Given the description of an element on the screen output the (x, y) to click on. 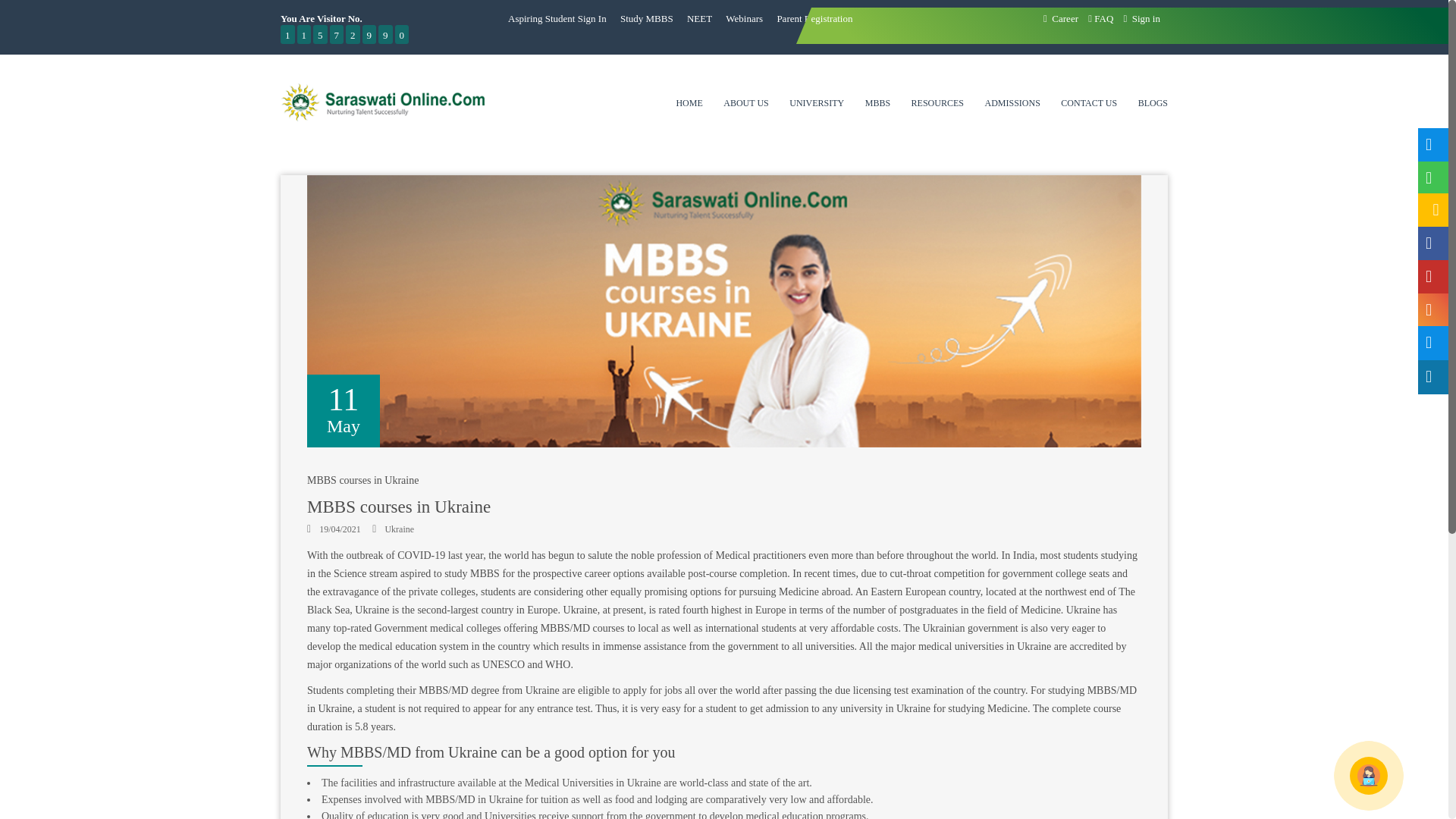
NEET (699, 18)
Aspiring Student Sign In (557, 18)
 Career (1060, 18)
 FAQ (1100, 18)
 Sign in (1142, 18)
Study MBBS (646, 18)
Webinars (743, 18)
Parent Registration (813, 18)
